Given the description of an element on the screen output the (x, y) to click on. 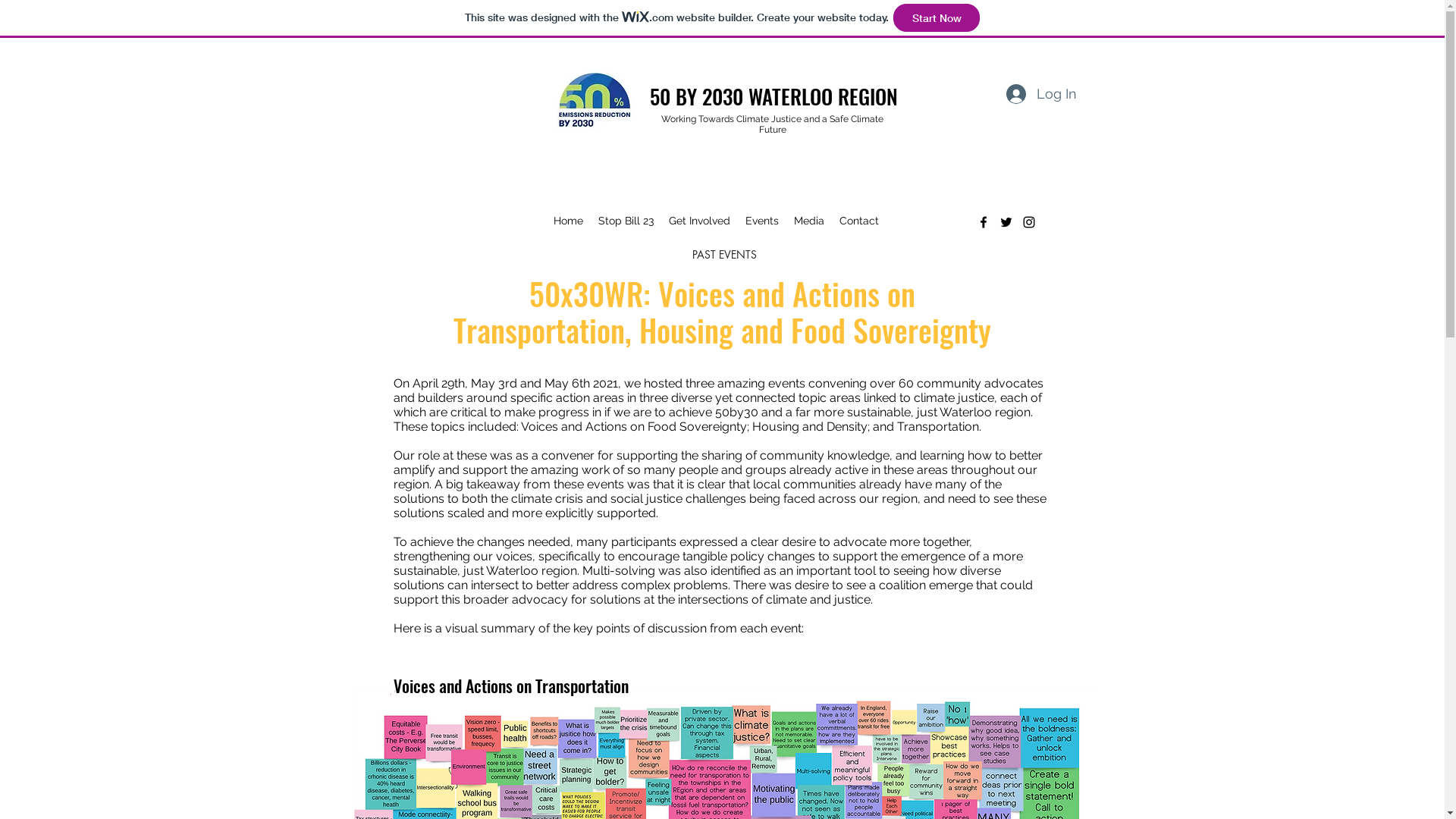
Stop Bill 23 Element type: text (624, 220)
Home Element type: text (568, 220)
Log In Element type: text (1038, 93)
Media Element type: text (808, 220)
50 BY 2030 WATERLOO REGION Element type: text (773, 96)
Events Element type: text (761, 220)
Get Involved Element type: text (699, 220)
Contact Element type: text (858, 220)
